Given the description of an element on the screen output the (x, y) to click on. 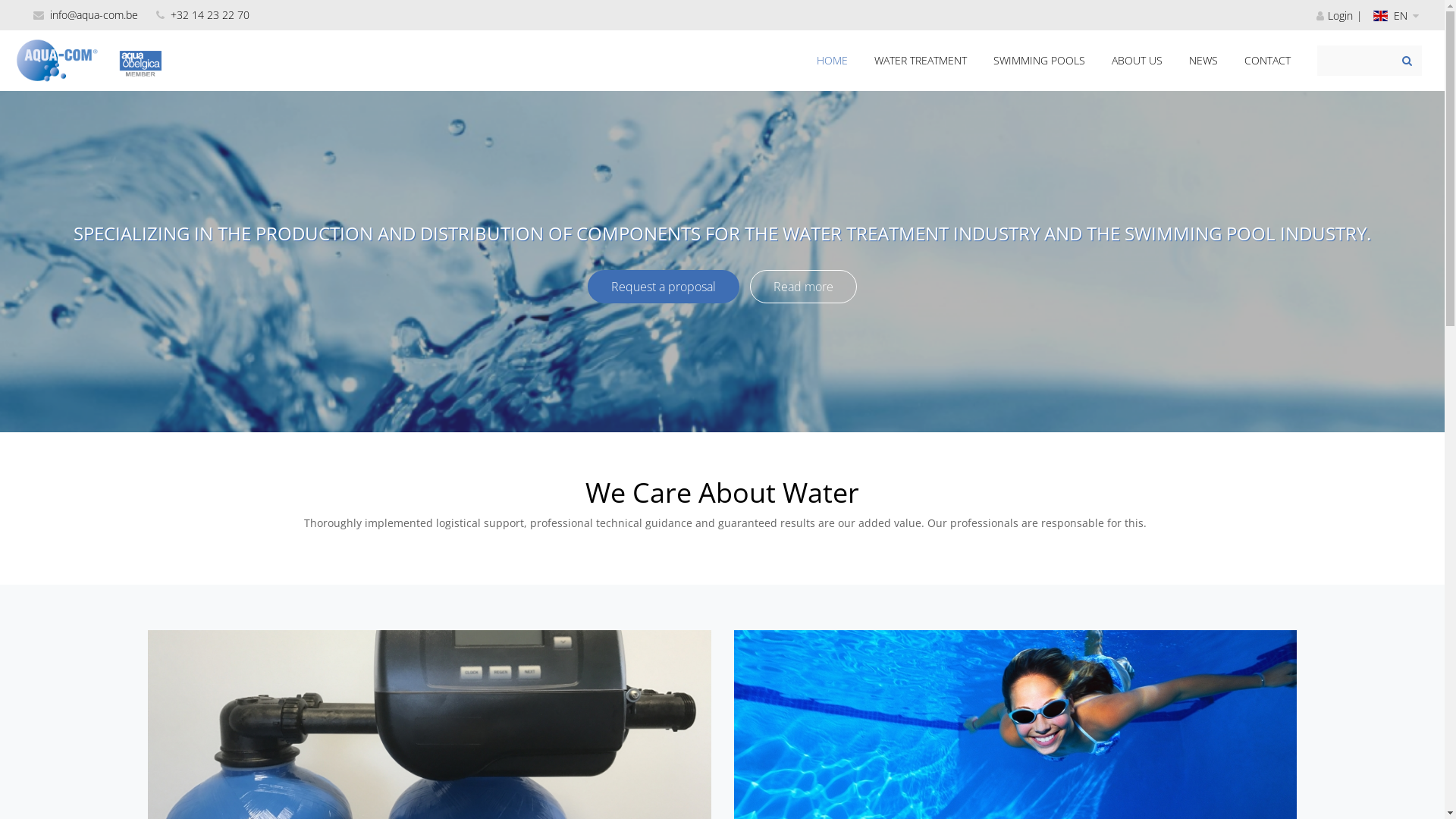
EN Element type: text (1390, 15)
ABOUT US Element type: text (1136, 60)
Login Element type: text (1341, 15)
NEWS Element type: text (1203, 60)
Request a proposal Element type: text (663, 286)
Read more Element type: text (802, 286)
+32 14 23 22 70 Element type: text (202, 14)
info@aqua-com.be Element type: text (85, 14)
EN Element type: text (1398, 15)
HOME Element type: text (831, 60)
WATER TREATMENT Element type: text (920, 60)
CONTACT Element type: text (1267, 60)
SWIMMING POOLS Element type: text (1039, 60)
